Given the description of an element on the screen output the (x, y) to click on. 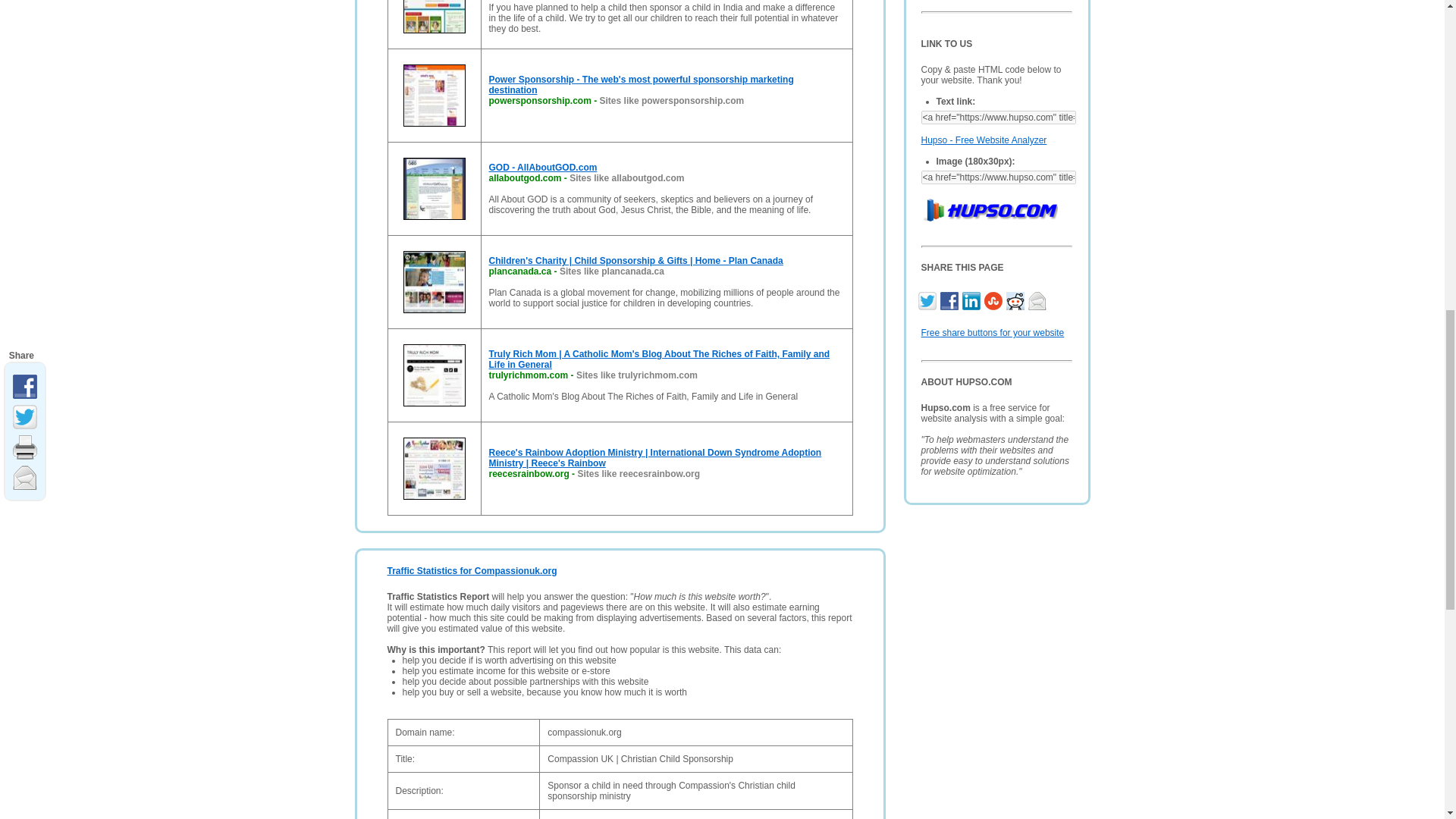
Email (1038, 299)
Sites like allaboutgod.com (626, 177)
Facebook (951, 299)
Hupso - Free Website Analyzer (983, 140)
Sites like powersponsorship.com (671, 100)
Twitter (928, 299)
Linkedin (972, 299)
StumbleUpon (995, 299)
Sites like plancanada.ca (611, 271)
Hupso - Free Website Analyzer (988, 207)
Hupso - Free Website Analyzer (983, 140)
Free share buttons for your website (992, 332)
Reddit (1016, 299)
GOD - AllAboutGOD.com (541, 167)
